Given the description of an element on the screen output the (x, y) to click on. 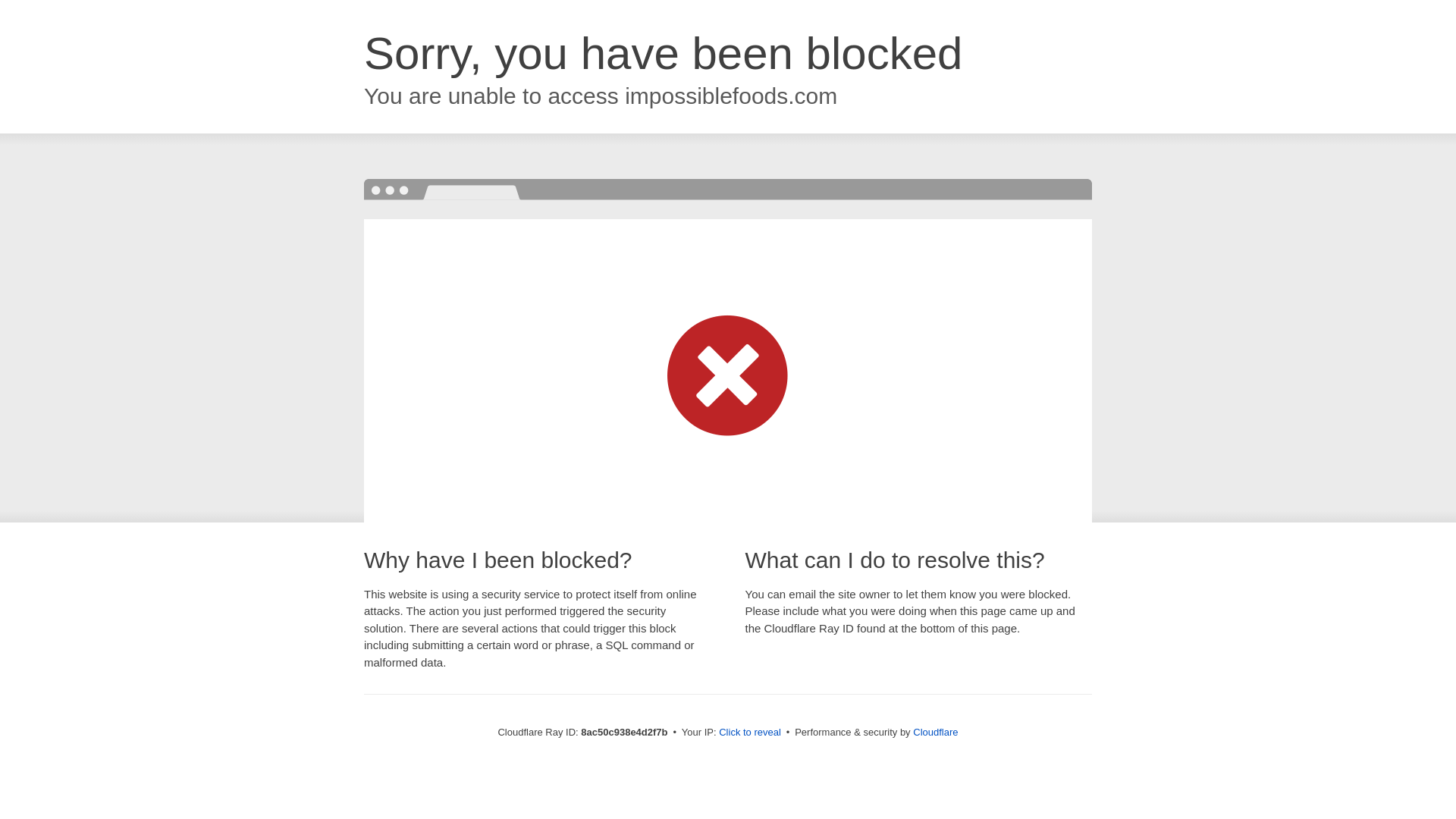
Cloudflare (935, 731)
Click to reveal (749, 732)
